Given the description of an element on the screen output the (x, y) to click on. 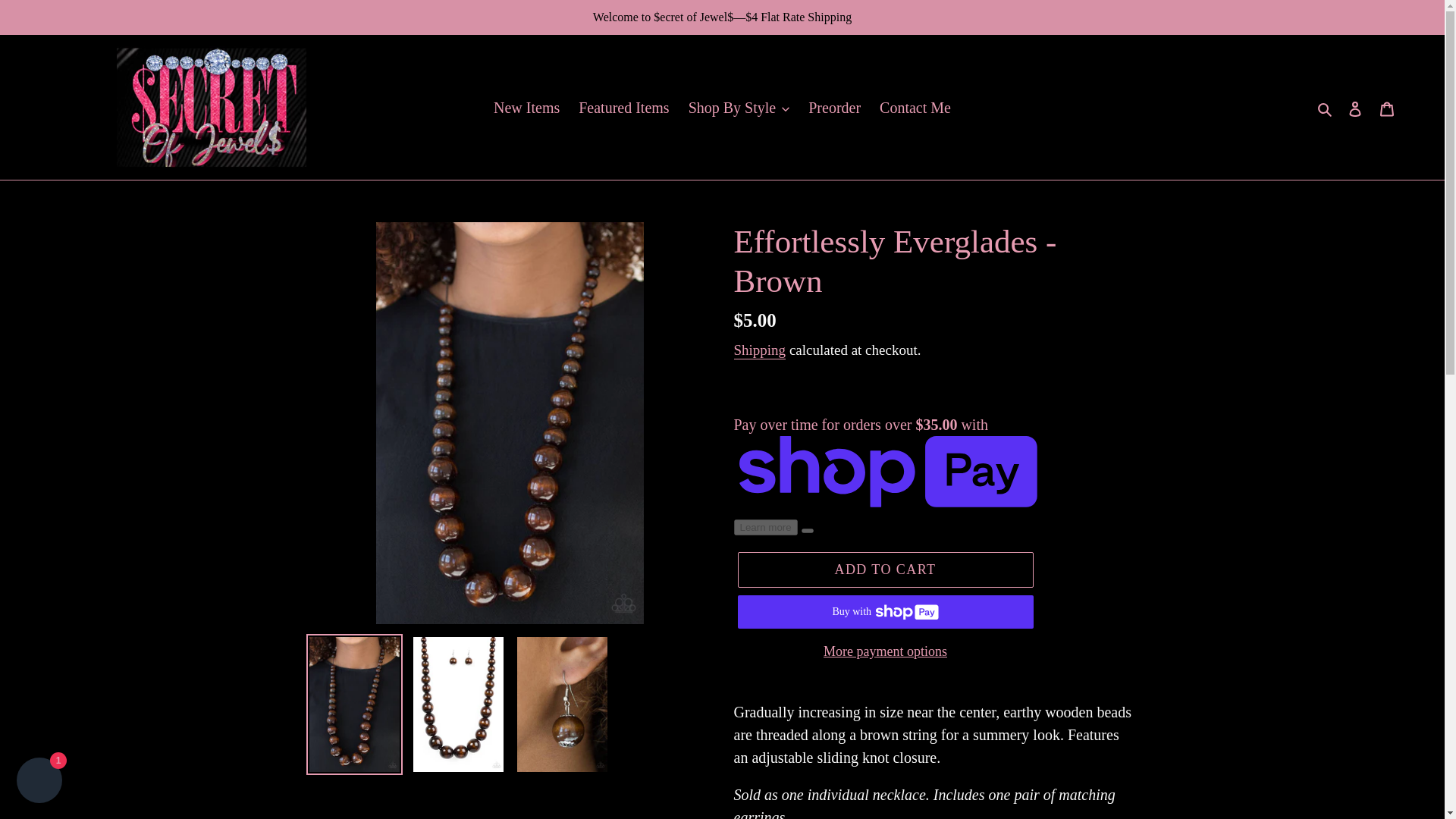
Search (1326, 107)
Shopify online store chat (38, 781)
Log in (1355, 106)
Preorder (833, 107)
Contact Me (915, 107)
Shop By Style (739, 107)
Cart (1387, 106)
Featured Items (623, 107)
New Items (526, 107)
